Given the description of an element on the screen output the (x, y) to click on. 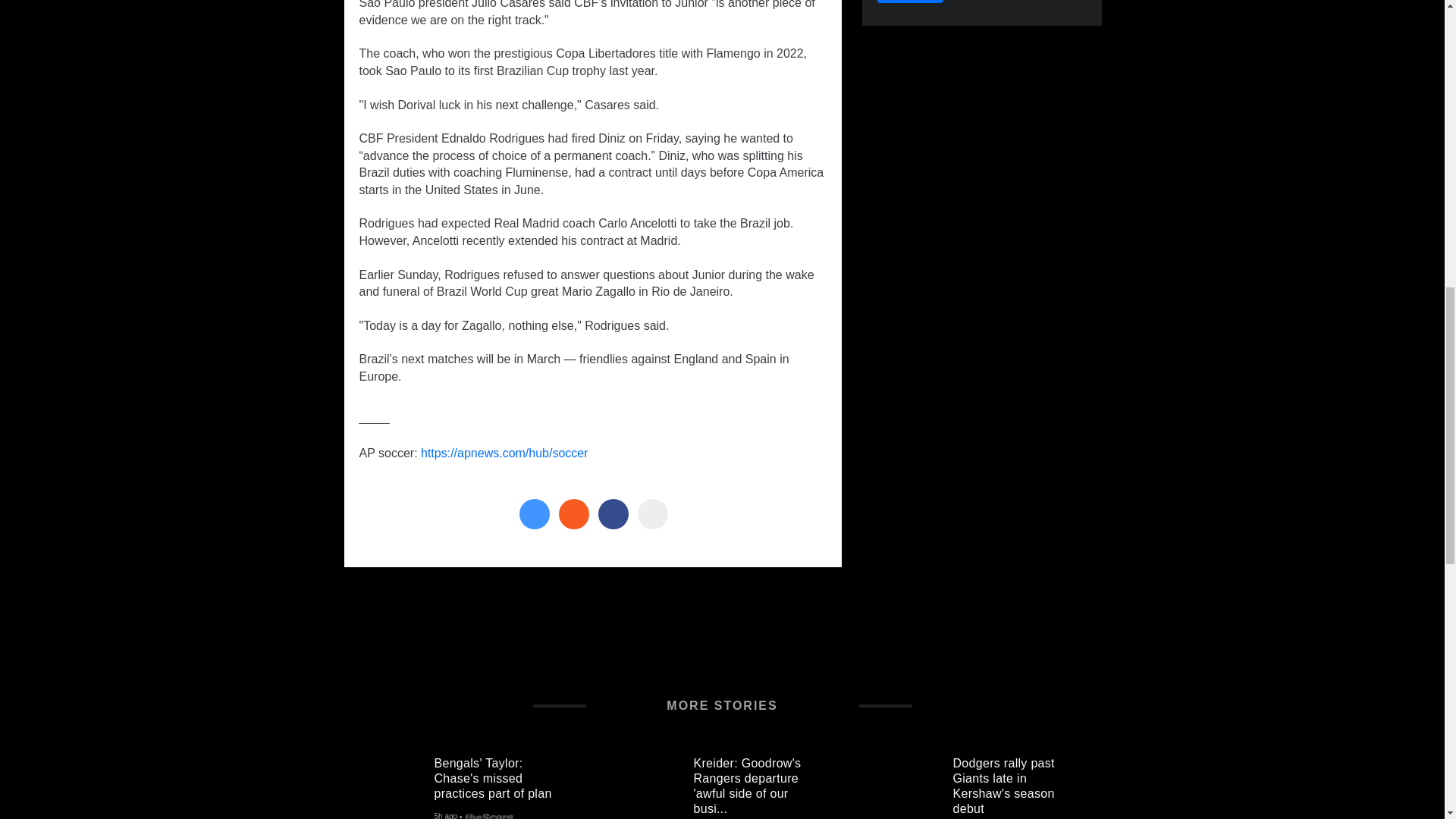
Dodgers rally past Giants late in Kershaw's season debut (906, 785)
Twitter (533, 513)
2024-07-26T00:29:34.000Z (445, 815)
Dodgers rally past Giants late in Kershaw's season debut (1018, 782)
Subscribe (909, 1)
Facebook (611, 513)
Email (651, 513)
Reddit (572, 513)
Bengals' Taylor: Chase's missed practices part of plan (500, 774)
Bengals' Taylor: Chase's missed practices part of plan (388, 785)
